Given the description of an element on the screen output the (x, y) to click on. 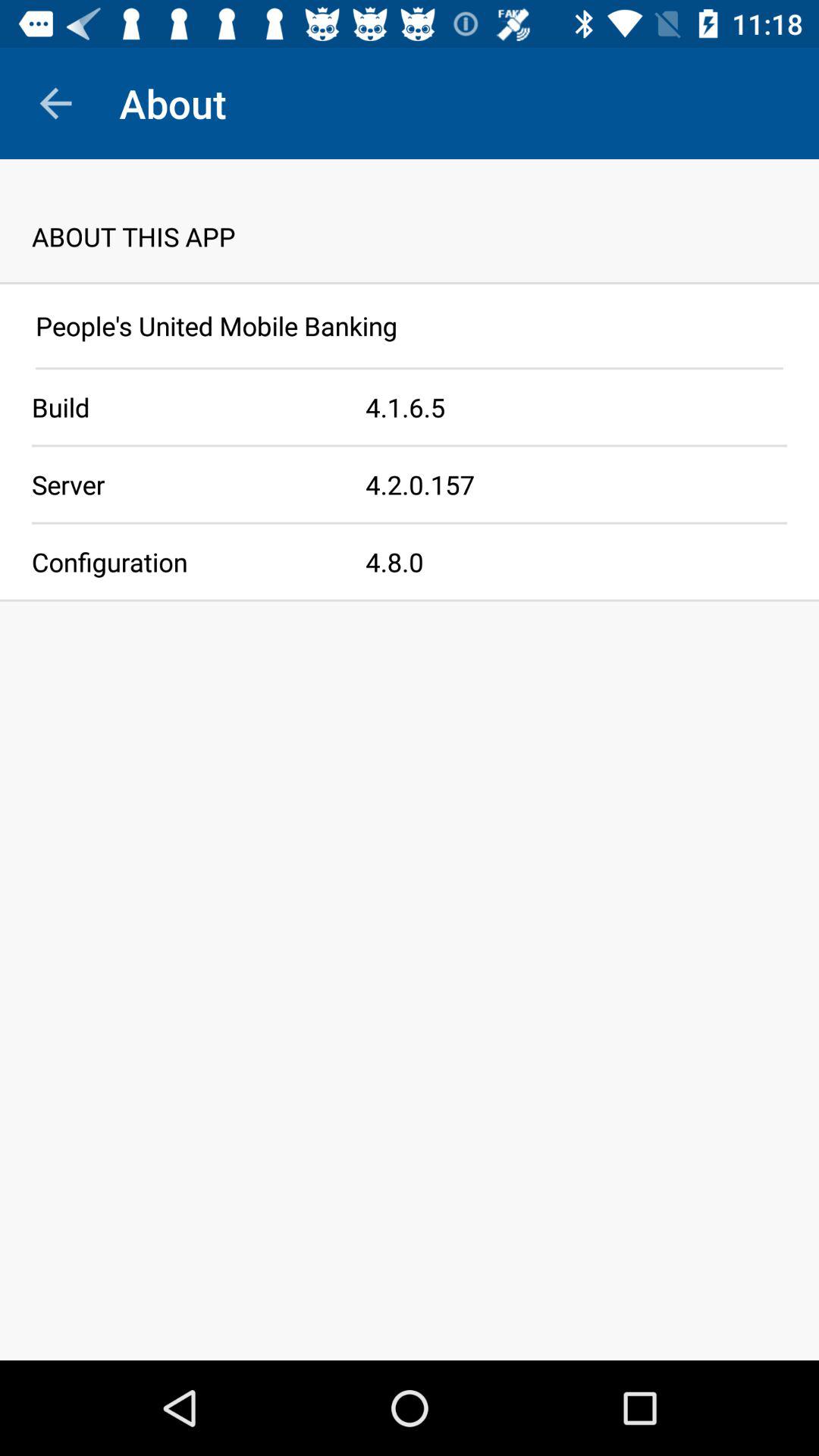
swipe to the configuration item (182, 561)
